Given the description of an element on the screen output the (x, y) to click on. 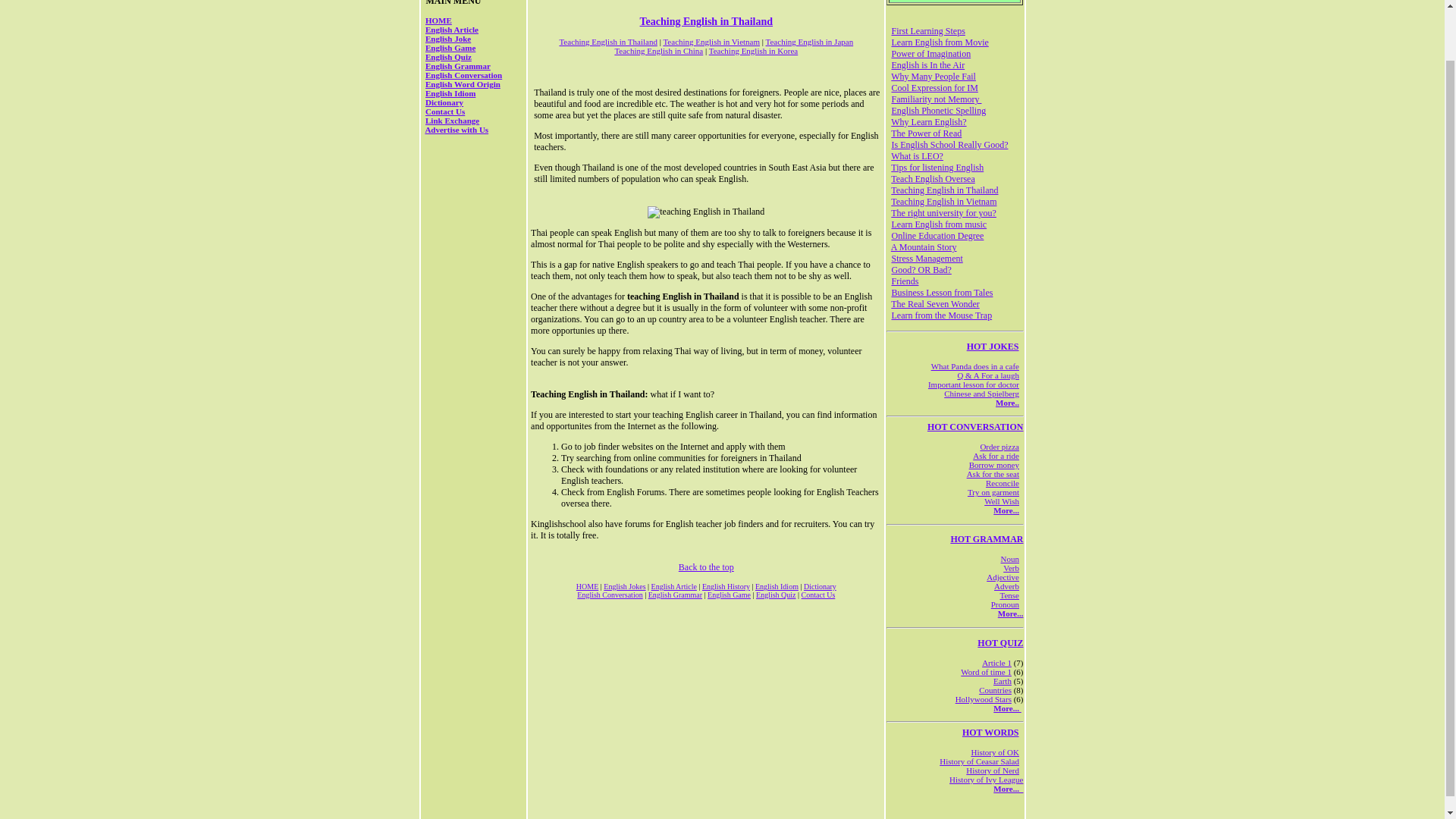
Advertise with Us (456, 129)
Power of Imagination (931, 53)
English Article (673, 586)
English Idiom (776, 586)
English Jokes (624, 586)
English Article (452, 29)
Teaching English in Vietnam (711, 40)
Contact Us (444, 111)
Why Many People Fail (933, 76)
english conversation (992, 473)
Dictionary (819, 586)
Familiarity not Memory  (936, 99)
English Joke (447, 38)
English Idiom (450, 92)
English Grammar (457, 65)
